Given the description of an element on the screen output the (x, y) to click on. 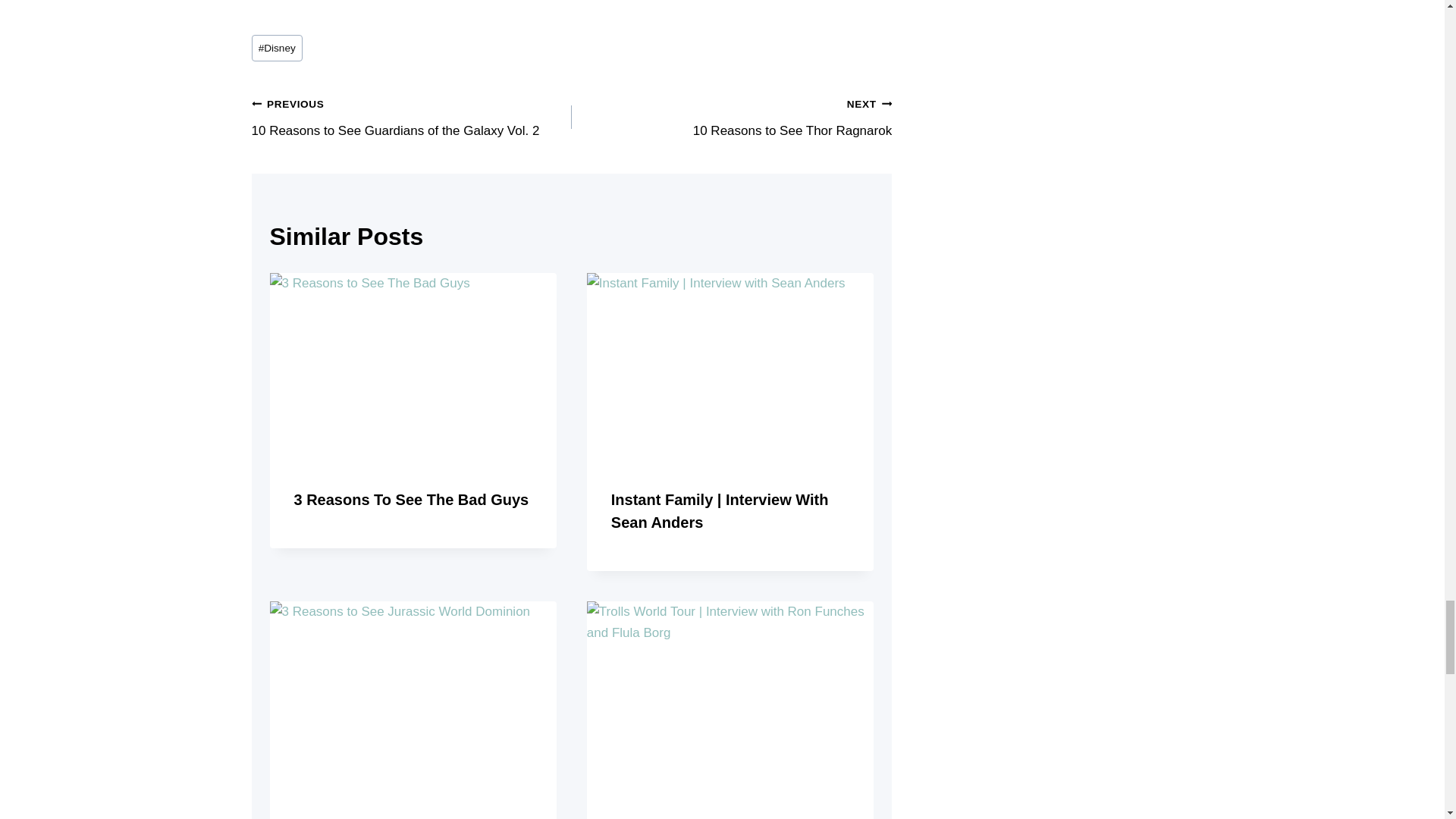
Disney (276, 48)
3 Reasons To See The Bad Guys (411, 116)
